Given the description of an element on the screen output the (x, y) to click on. 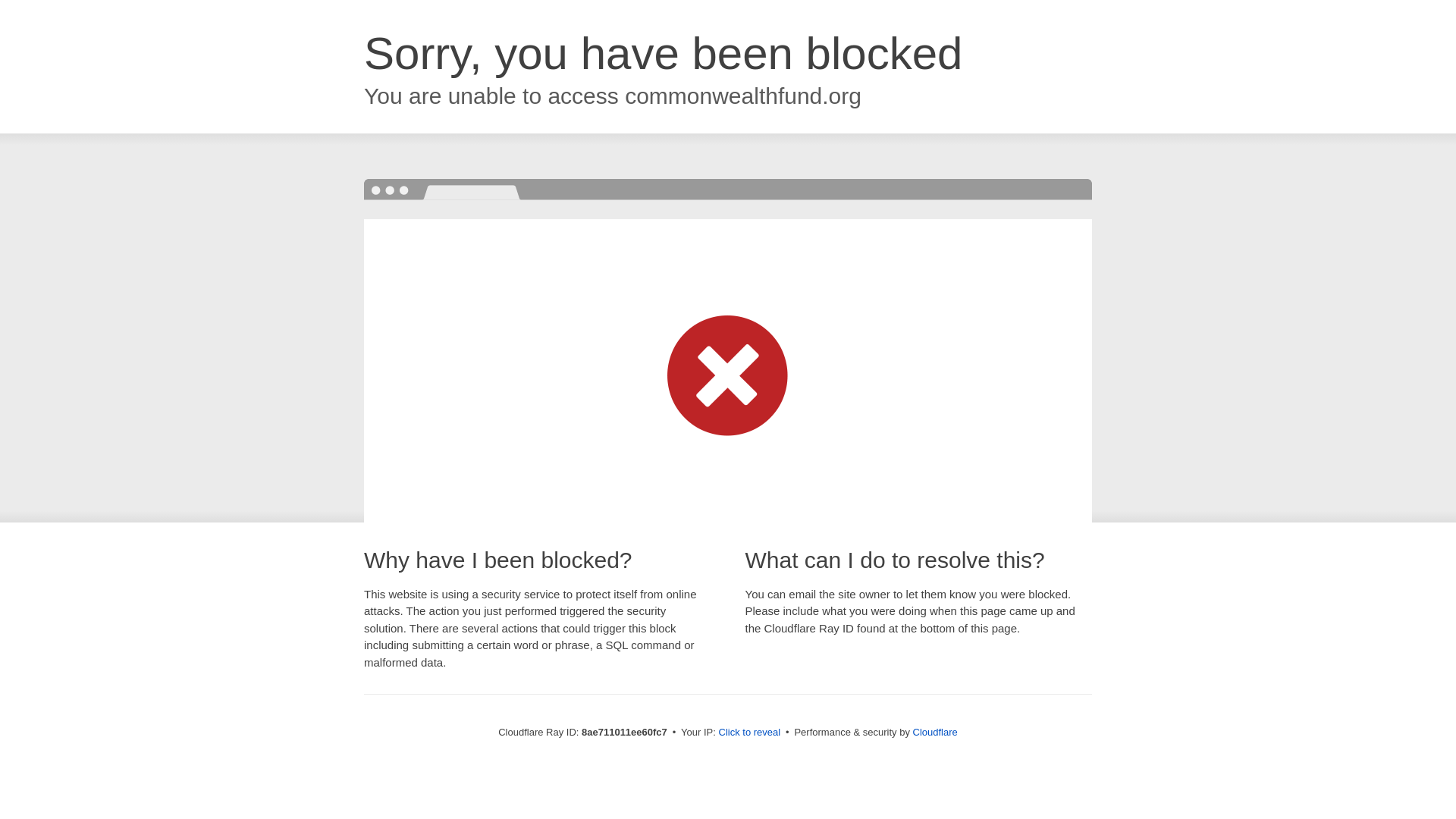
Cloudflare (935, 731)
Click to reveal (749, 732)
